Given the description of an element on the screen output the (x, y) to click on. 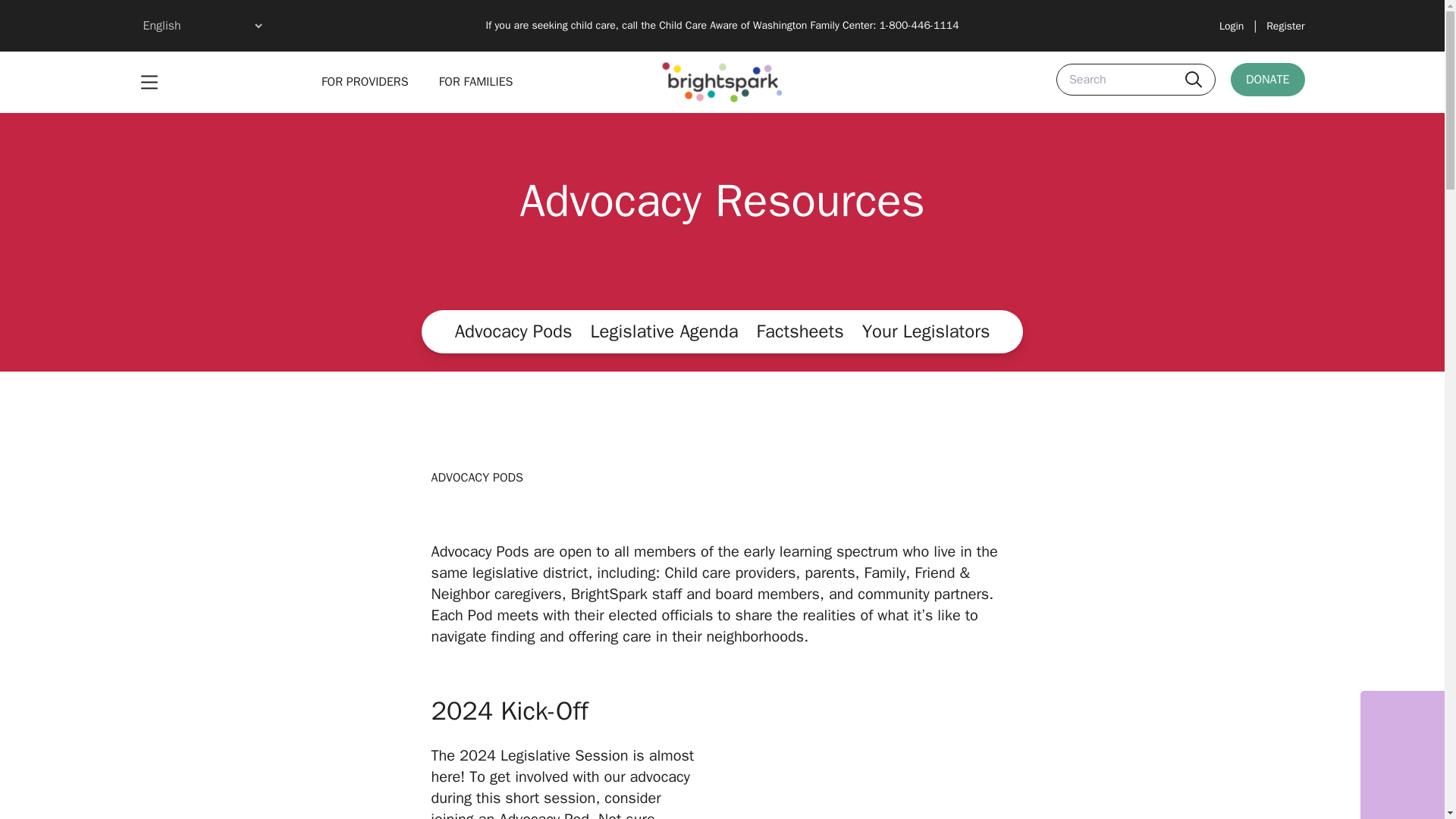
Legislative Agenda (663, 331)
FOR PROVIDERS (365, 81)
Your Legislators (925, 331)
Login (1231, 25)
FOR FAMILIES (476, 81)
YouTube video player (879, 766)
DONATE (1267, 79)
Factsheets (800, 331)
Advocacy Pods (513, 331)
Register (1285, 25)
